Given the description of an element on the screen output the (x, y) to click on. 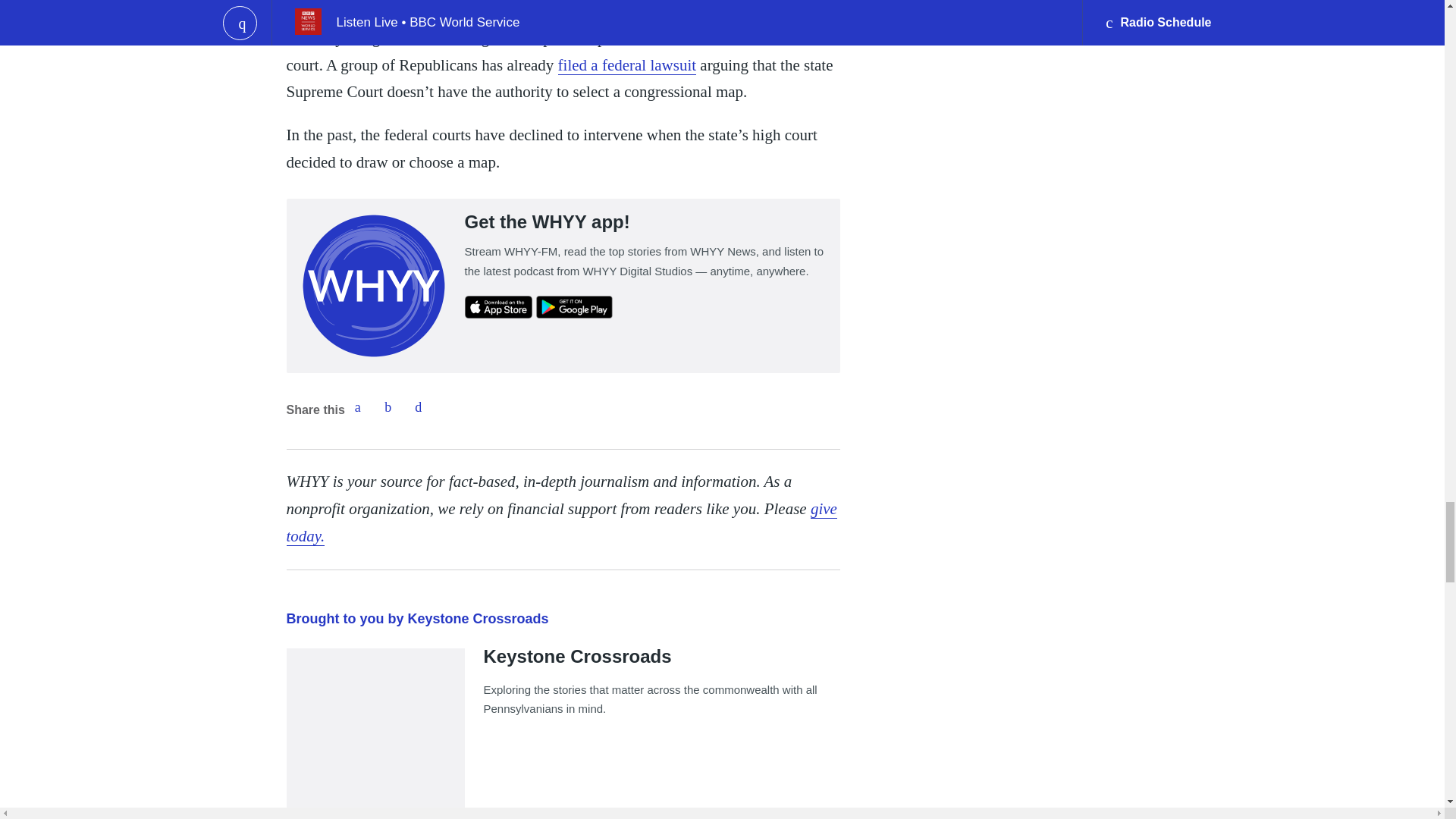
Facebook (357, 407)
Twitter (387, 407)
